Given the description of an element on the screen output the (x, y) to click on. 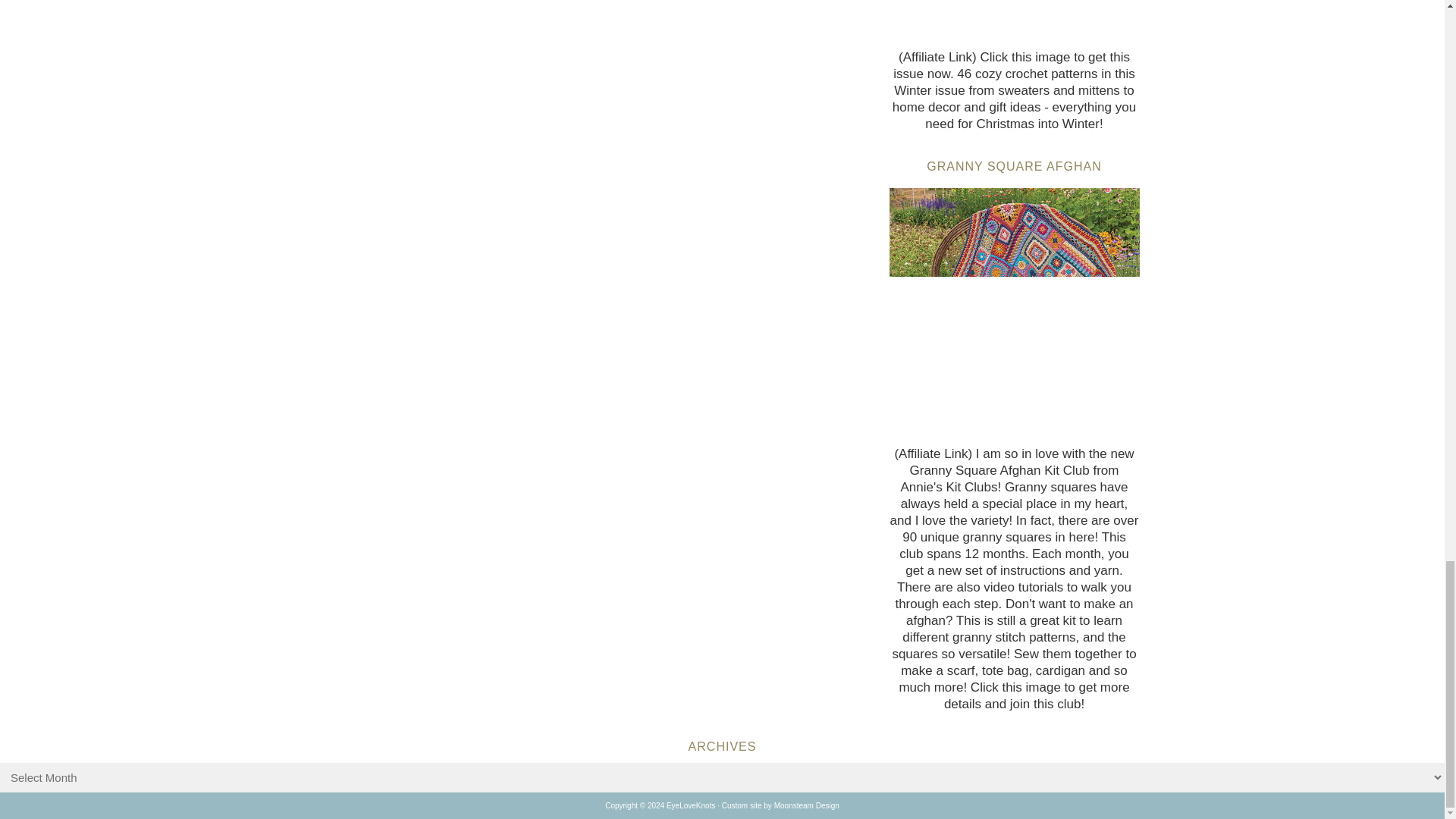
Granny Square Afghan (1013, 313)
Crochet World Winter 2023 (1013, 21)
